Given the description of an element on the screen output the (x, y) to click on. 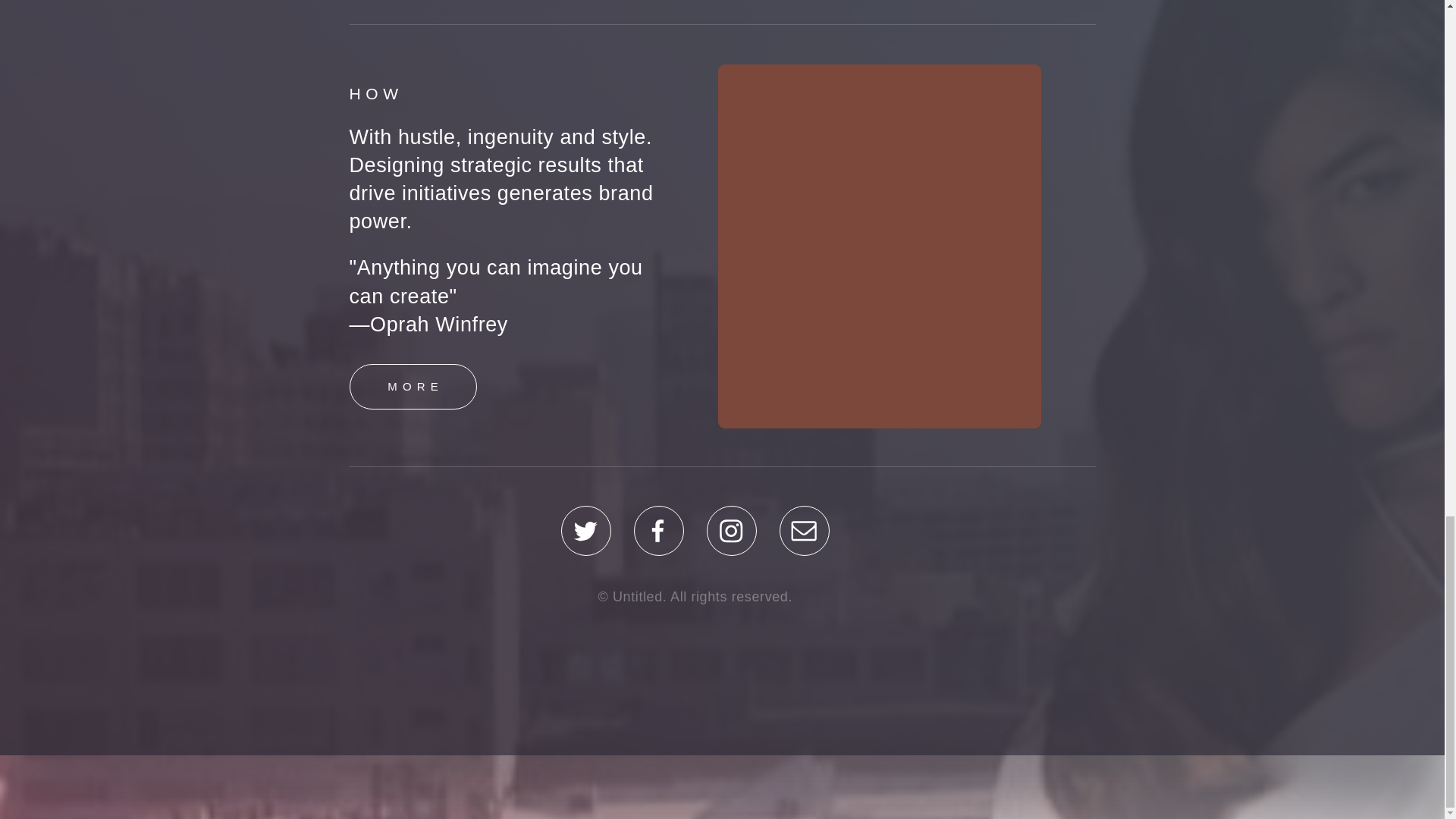
MORE (412, 386)
